Given the description of an element on the screen output the (x, y) to click on. 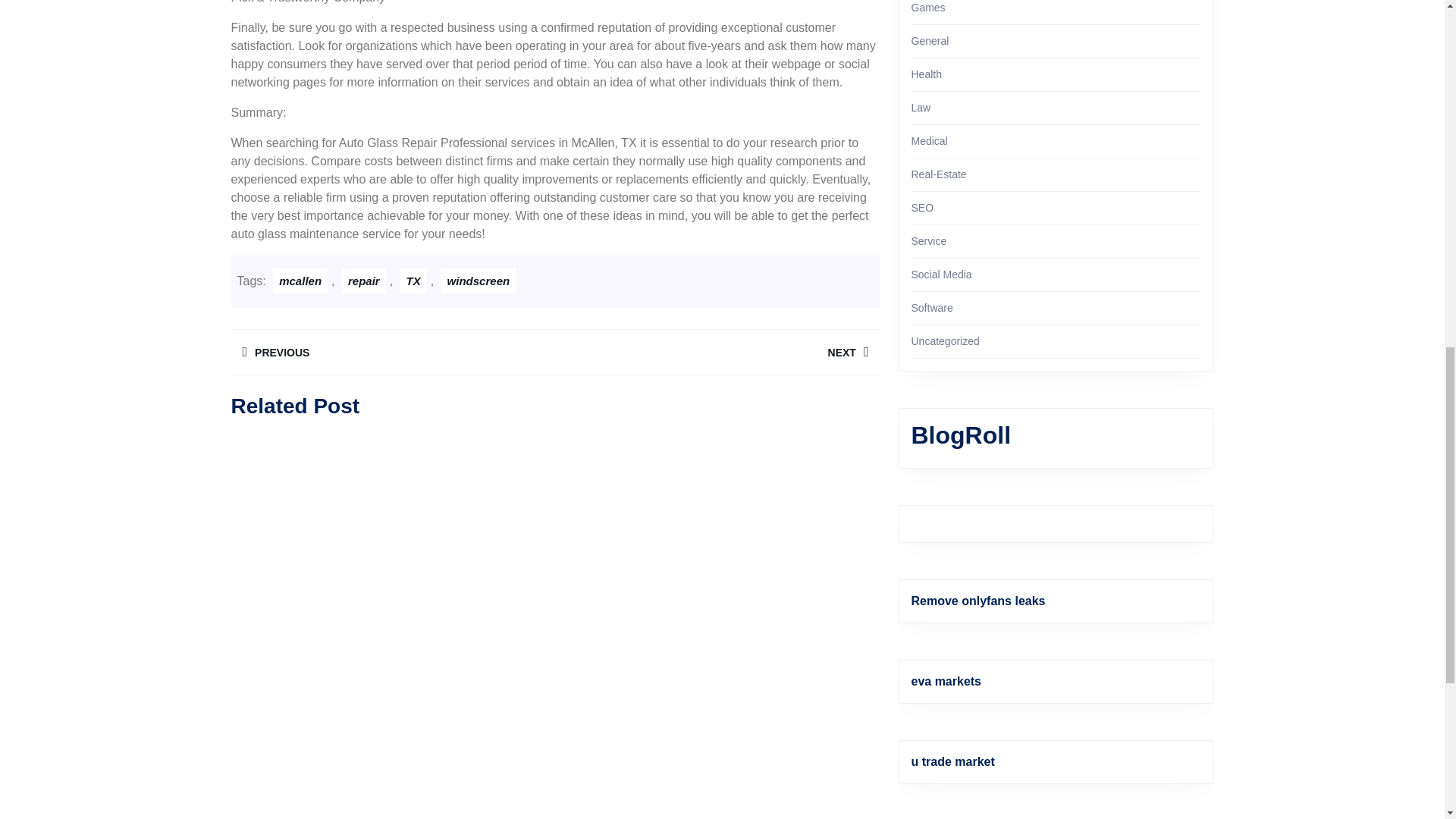
Games (927, 7)
windscreen (478, 280)
mcallen (300, 280)
TX (413, 280)
repair (392, 352)
